Given the description of an element on the screen output the (x, y) to click on. 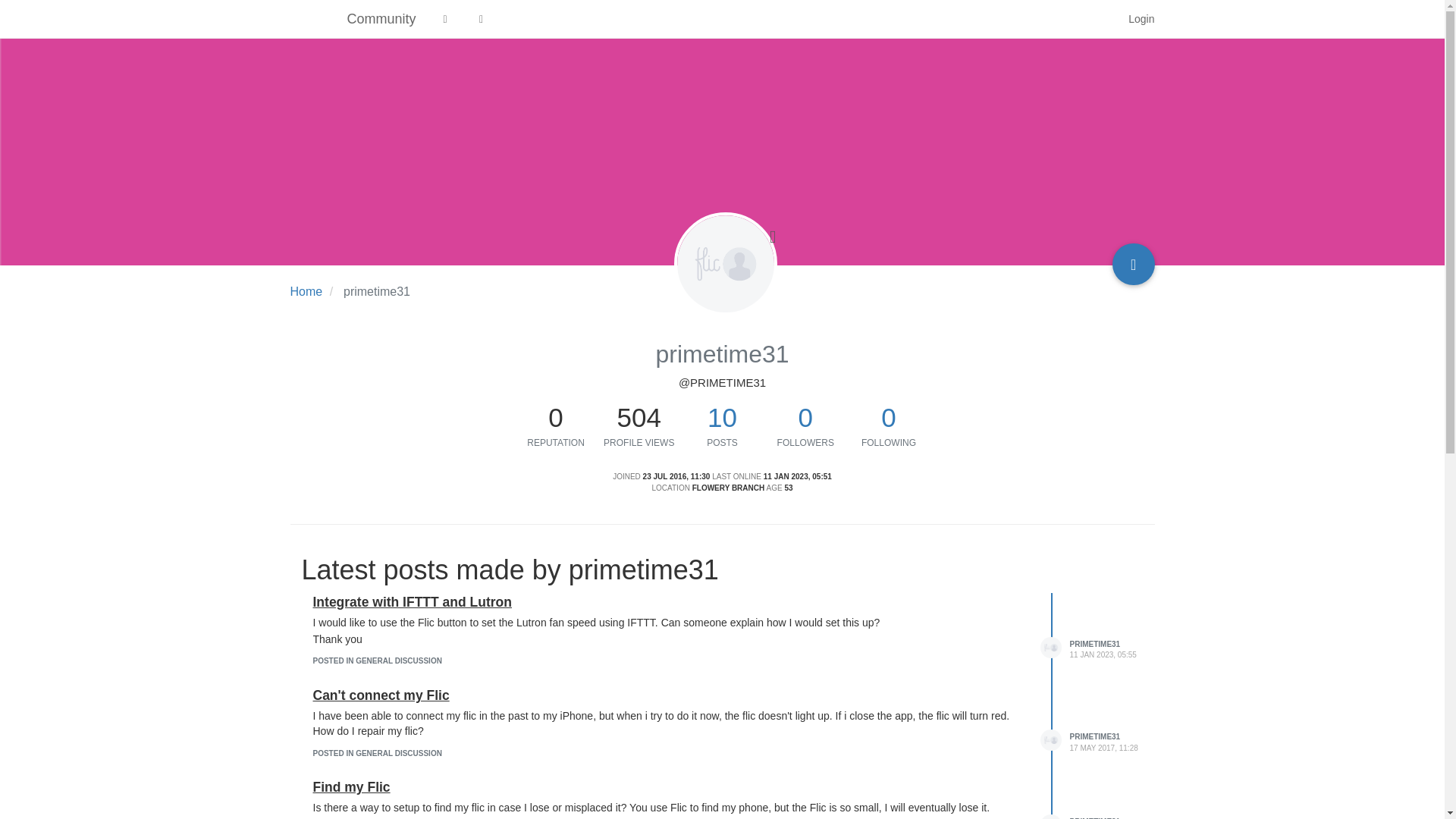
Can't connect my Flic (380, 694)
0 (887, 417)
0 (804, 417)
PRIMETIME31 (1093, 736)
Search (1097, 18)
Login (1141, 18)
Home (305, 291)
POSTED IN GENERAL DISCUSSION (377, 660)
Offline (773, 236)
Integrate with IFTTT and Lutron (412, 601)
0 (556, 416)
10 (721, 417)
Find my Flic (351, 786)
POSTED IN GENERAL DISCUSSION (377, 753)
PRIMETIME31 (1093, 643)
